Given the description of an element on the screen output the (x, y) to click on. 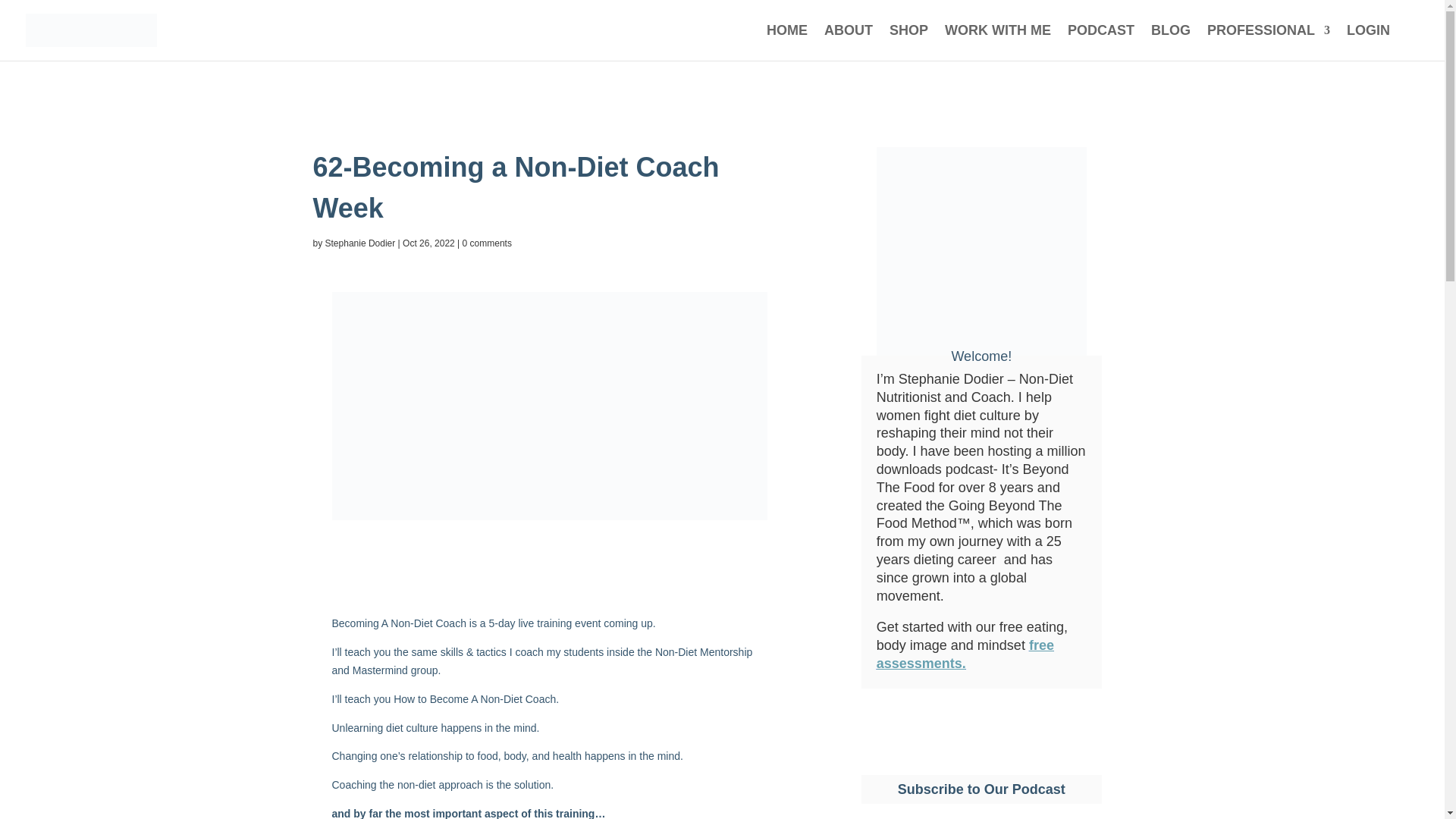
Posts by Stephanie Dodier (360, 243)
WORK WITH ME (997, 42)
assessments. (921, 663)
PROFESSIONAL (1268, 42)
free (1041, 645)
0 comments (487, 243)
HOME (787, 42)
SHOP (908, 42)
ABOUT (848, 42)
LOGIN (1368, 42)
